Given the description of an element on the screen output the (x, y) to click on. 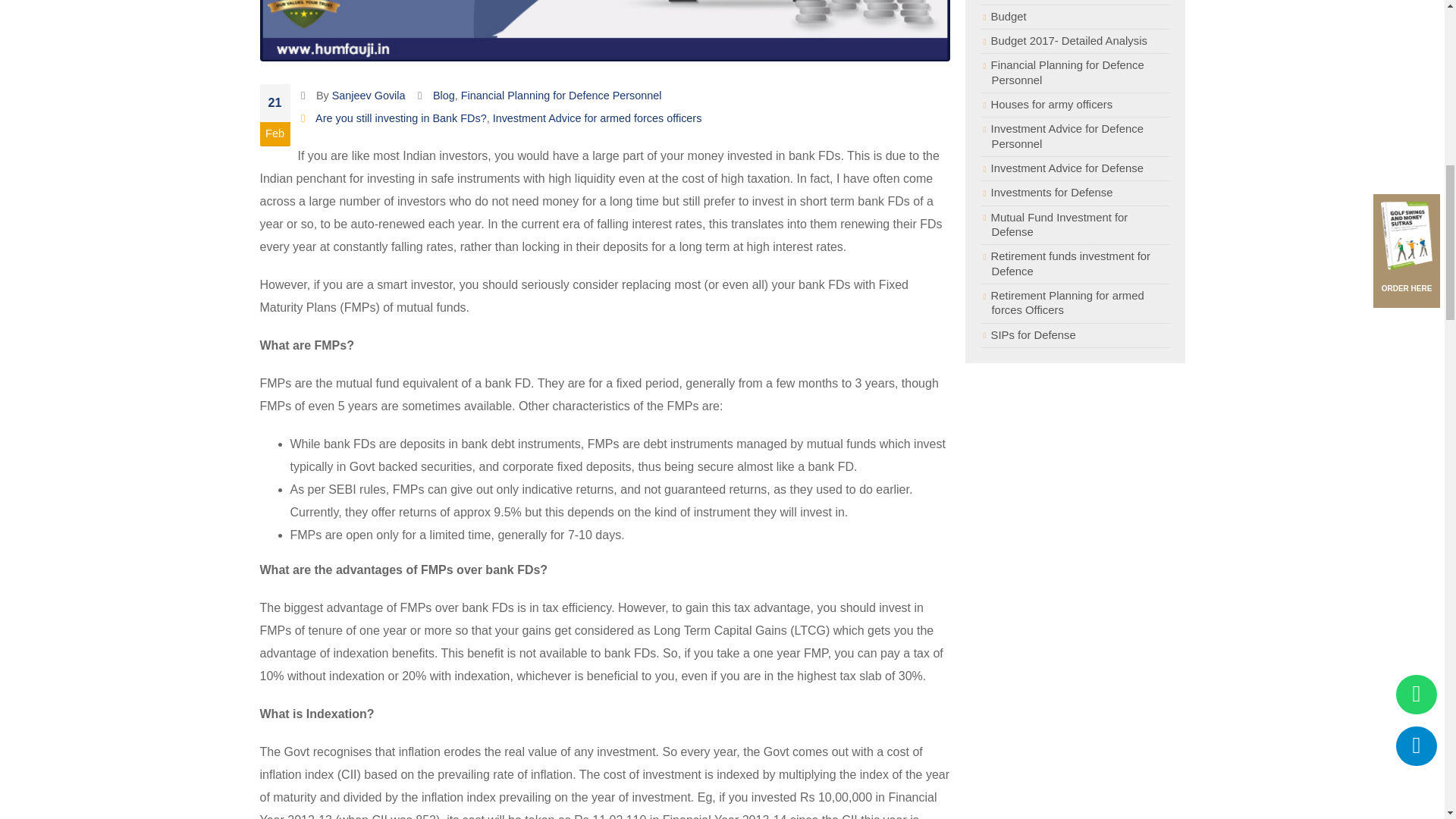
Posts by Sanjeev Govila (368, 95)
